Given the description of an element on the screen output the (x, y) to click on. 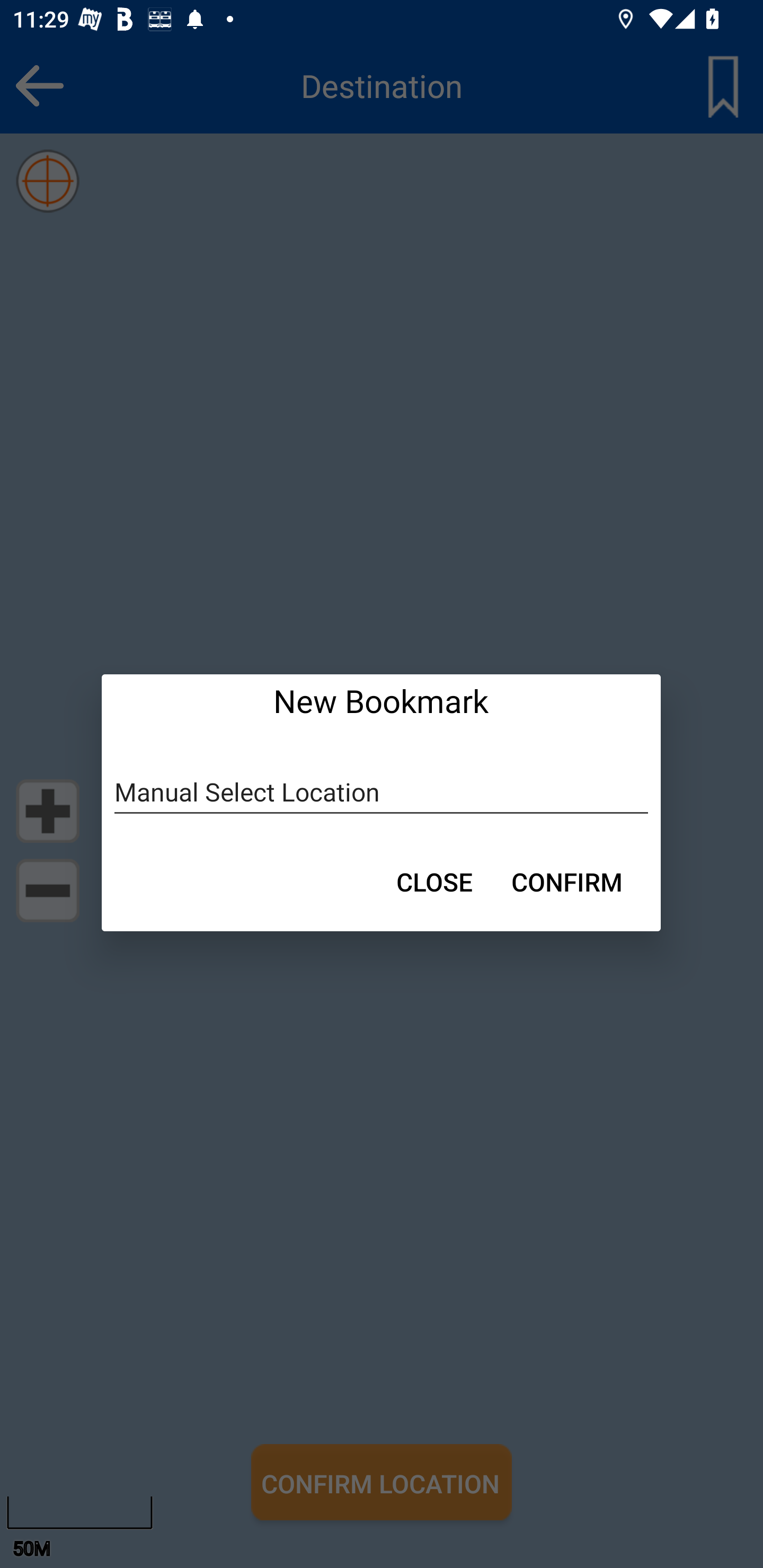
Manual Select Location (381, 792)
CLOSE (434, 881)
CONFIRM (566, 881)
